Given the description of an element on the screen output the (x, y) to click on. 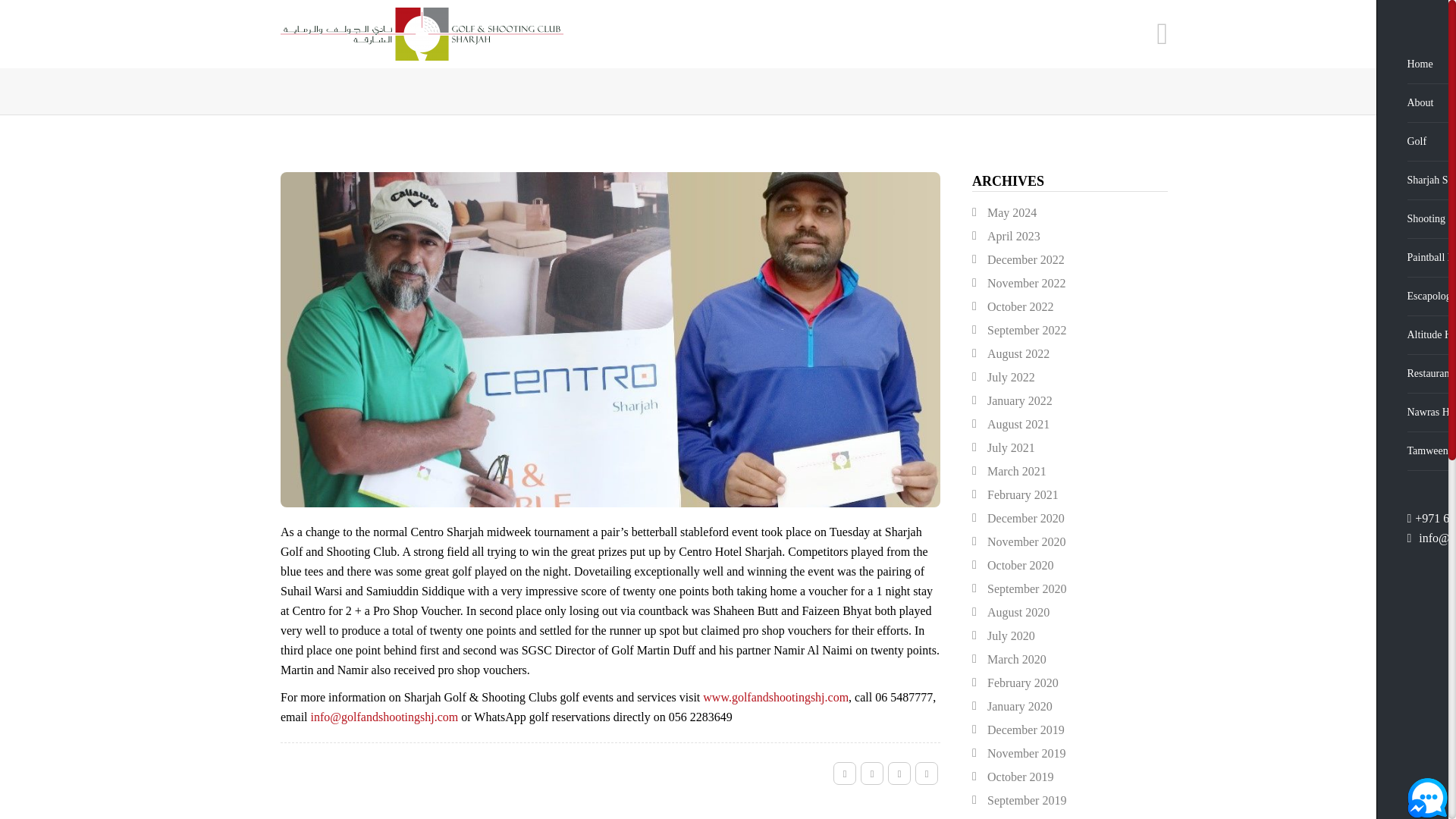
www.golfandshootingshj.com (775, 697)
